Given the description of an element on the screen output the (x, y) to click on. 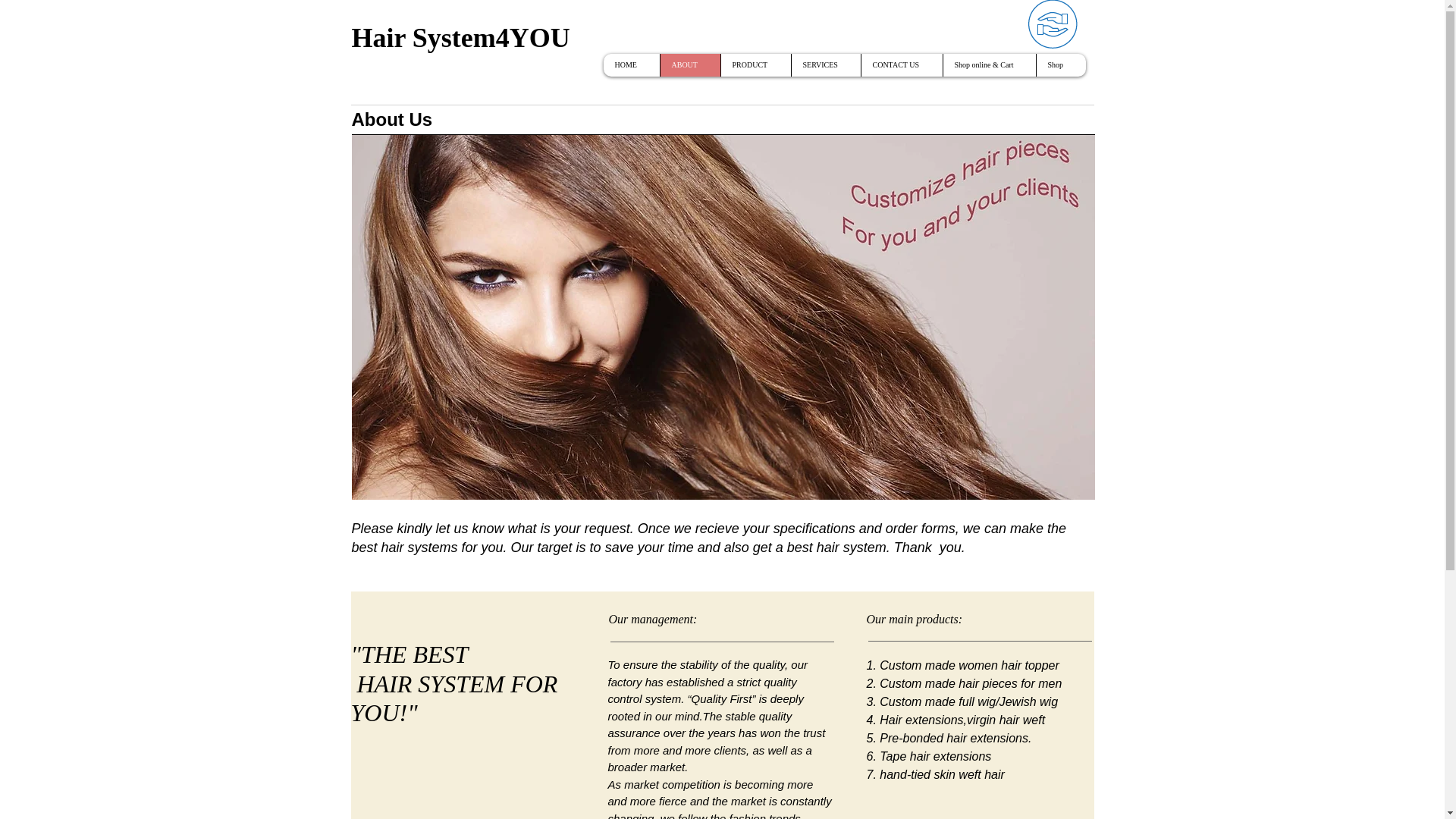
ABOUT (689, 65)
HOME (631, 65)
PRODUCT (755, 65)
CONTACT US (901, 65)
SERVICES (825, 65)
Hair System4YOU (461, 39)
Shop (1060, 65)
